Given the description of an element on the screen output the (x, y) to click on. 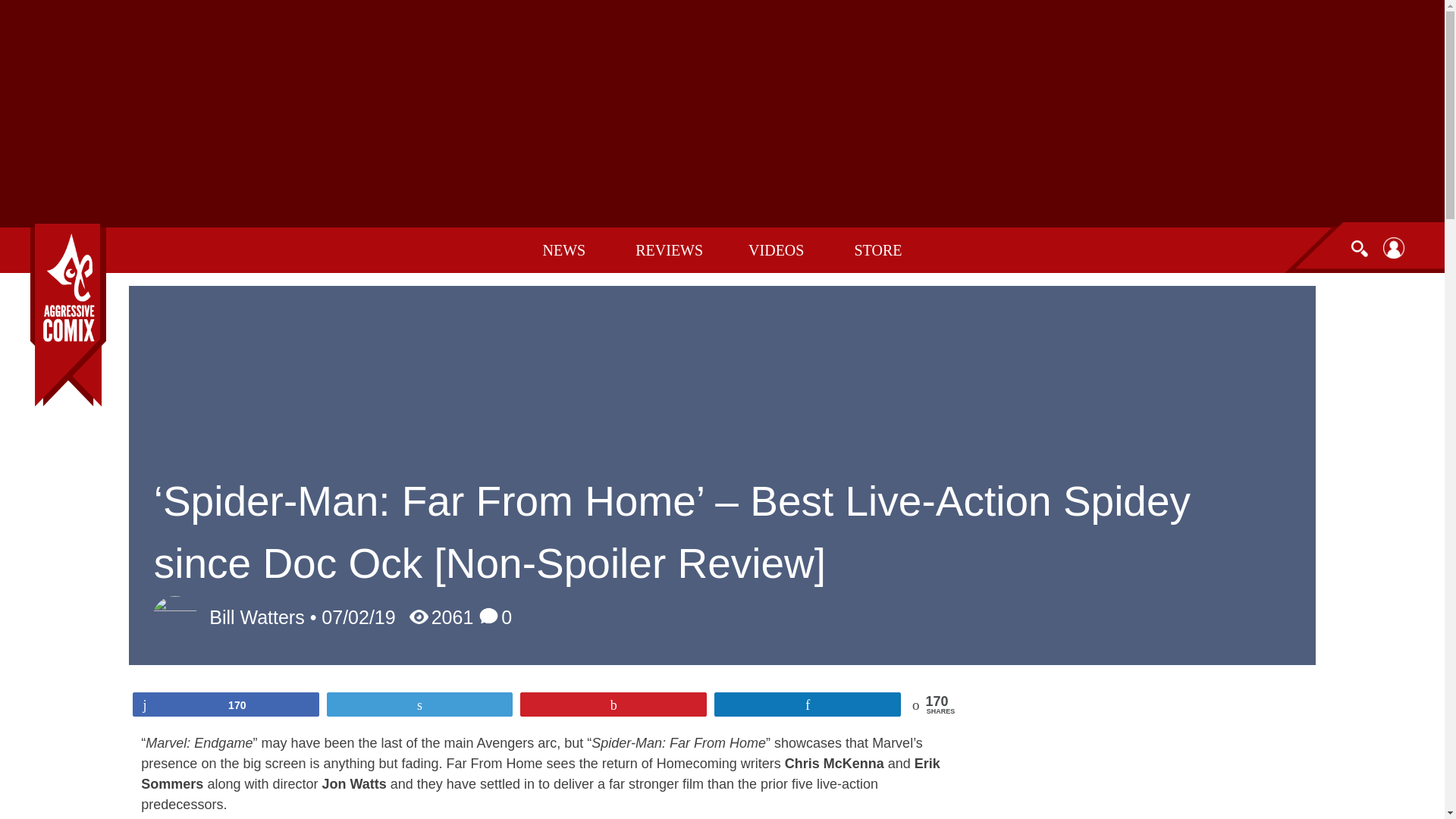
Videos (778, 250)
VIDEOS (778, 250)
170 (225, 703)
Reviews (668, 250)
NEWS (565, 250)
Bill Watters (256, 617)
Advertisement (1143, 748)
STORE (877, 250)
REVIEWS (668, 250)
